Given the description of an element on the screen output the (x, y) to click on. 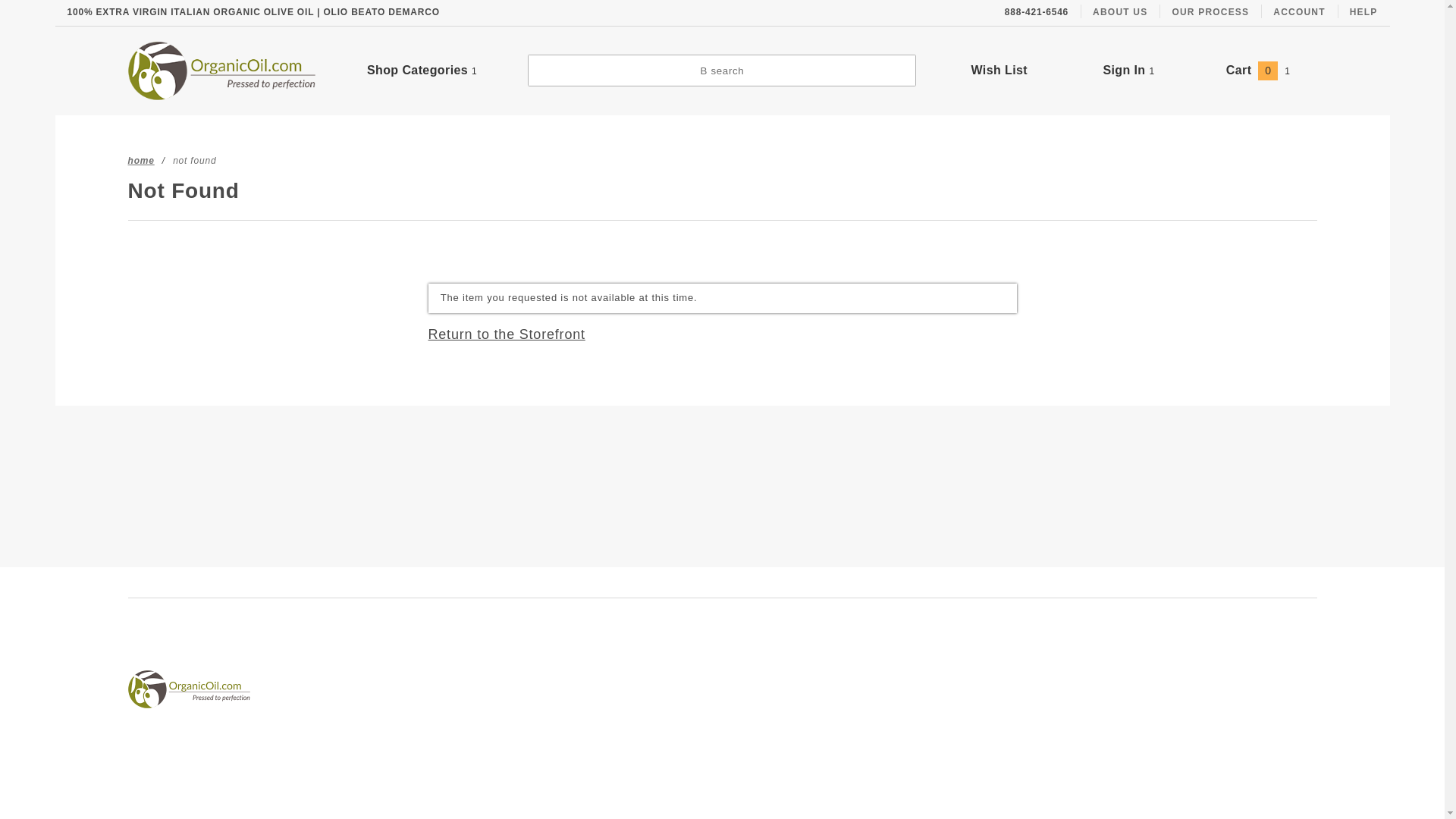
organicoil.com (221, 69)
ACCOUNT (1298, 12)
Sign In (1128, 69)
Wish List (999, 69)
About Us (1119, 12)
PRESS ENTER (1213, 25)
Help (1364, 12)
OUR PROCESS (1209, 12)
Account (1298, 12)
HELP (1364, 12)
search (721, 70)
Home (141, 160)
Sign In (1192, 123)
Not Found (194, 160)
Shop Categories (422, 70)
